Given the description of an element on the screen output the (x, y) to click on. 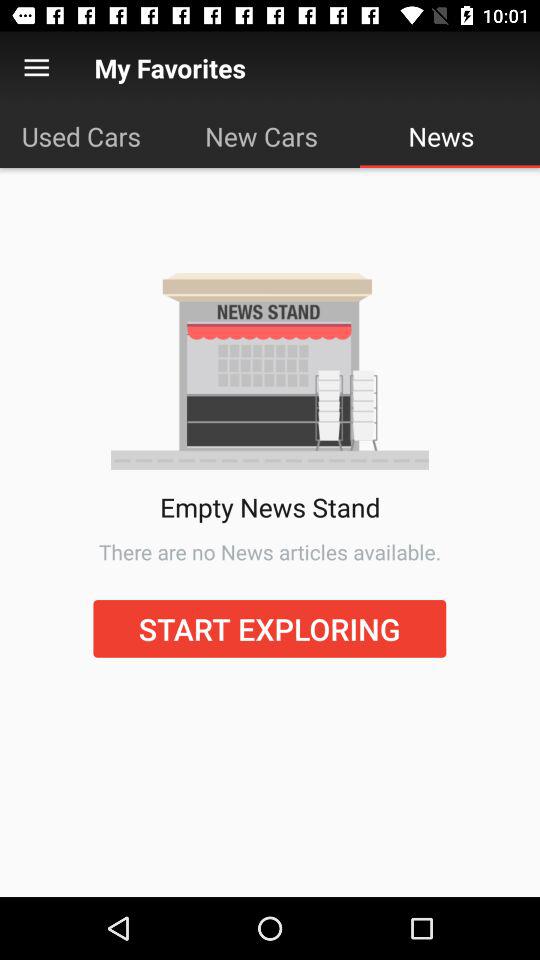
select start exploring icon (269, 628)
